Given the description of an element on the screen output the (x, y) to click on. 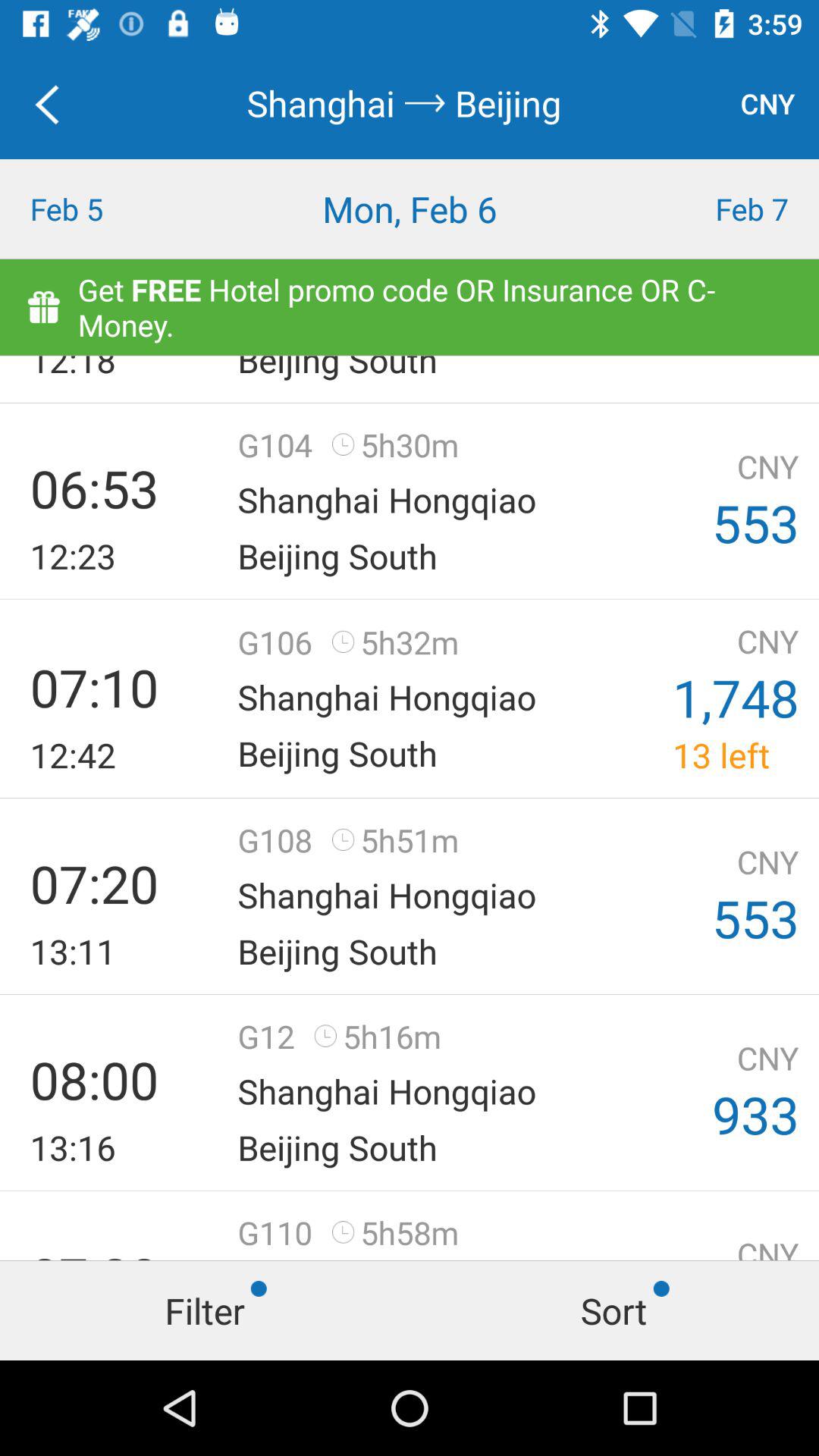
select the tab name sort at the bottom right corner (614, 1309)
